Given the description of an element on the screen output the (x, y) to click on. 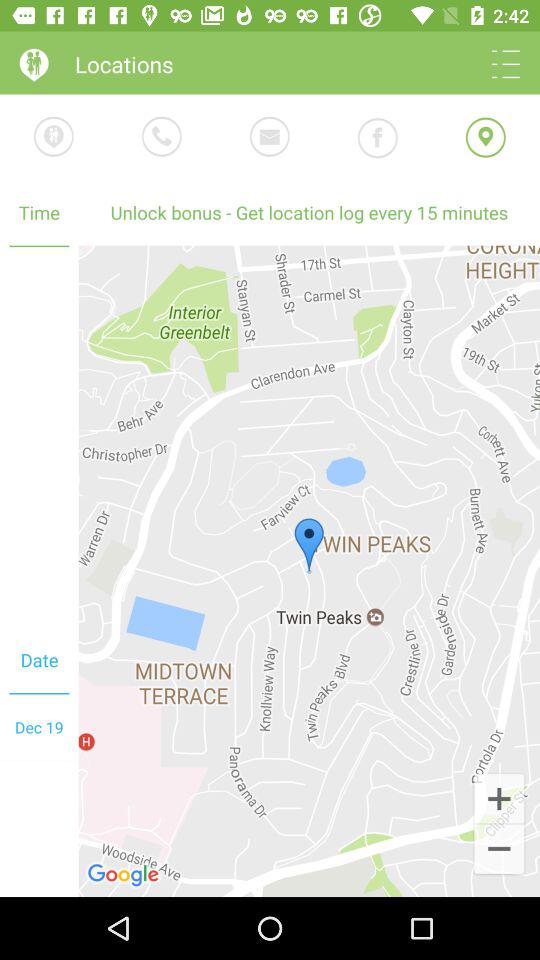
swipe until dec 19 item (39, 727)
